Given the description of an element on the screen output the (x, y) to click on. 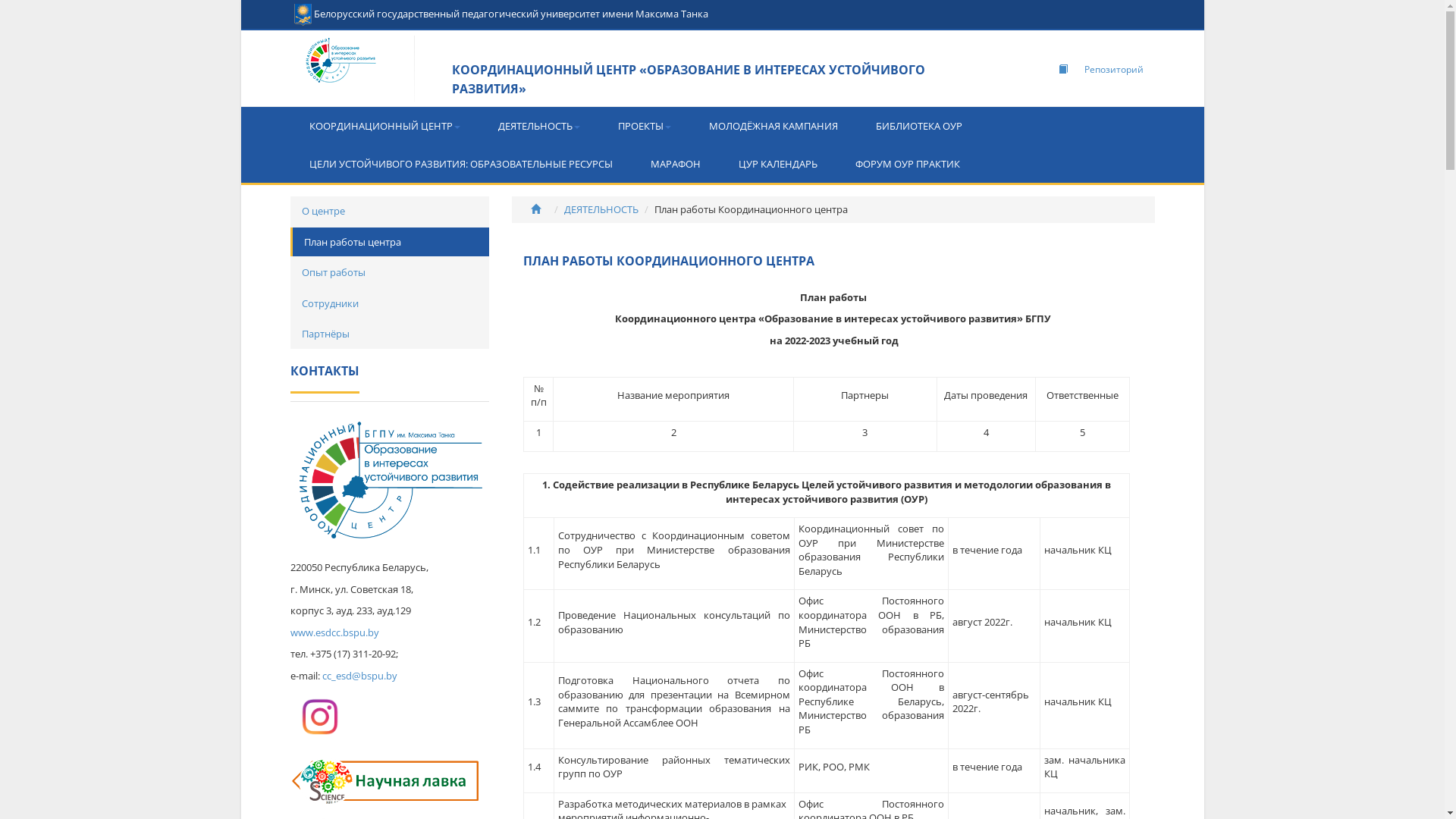
cc_esd@bspu.by Element type: text (358, 675)
www.esdcc.bspu.by Element type: text (333, 632)
